Given the description of an element on the screen output the (x, y) to click on. 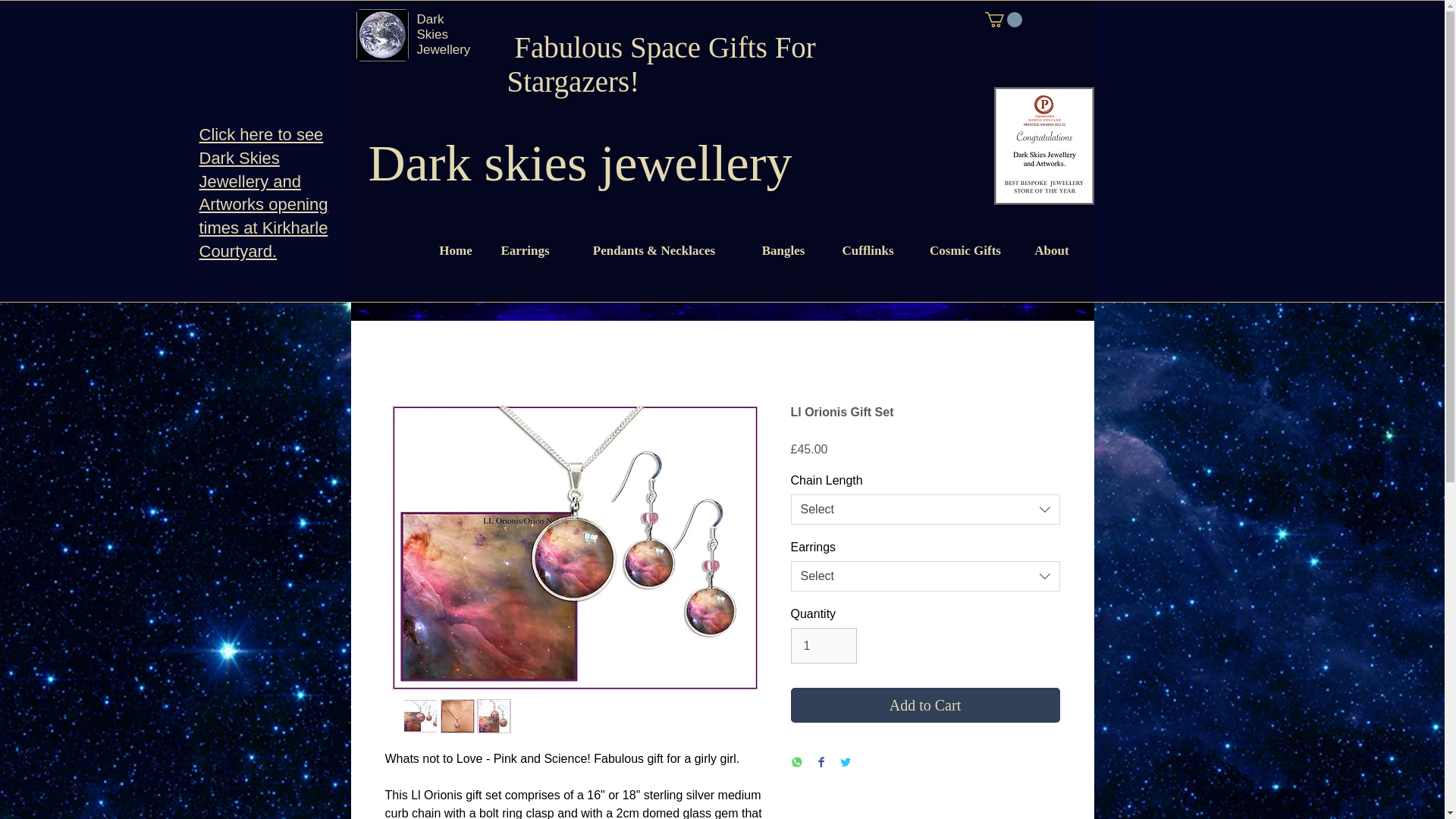
Select (924, 576)
Home (455, 250)
1 (823, 645)
Dark Skies Jewellery (443, 34)
About (1051, 250)
Select (924, 509)
Add to Cart (924, 704)
